Given the description of an element on the screen output the (x, y) to click on. 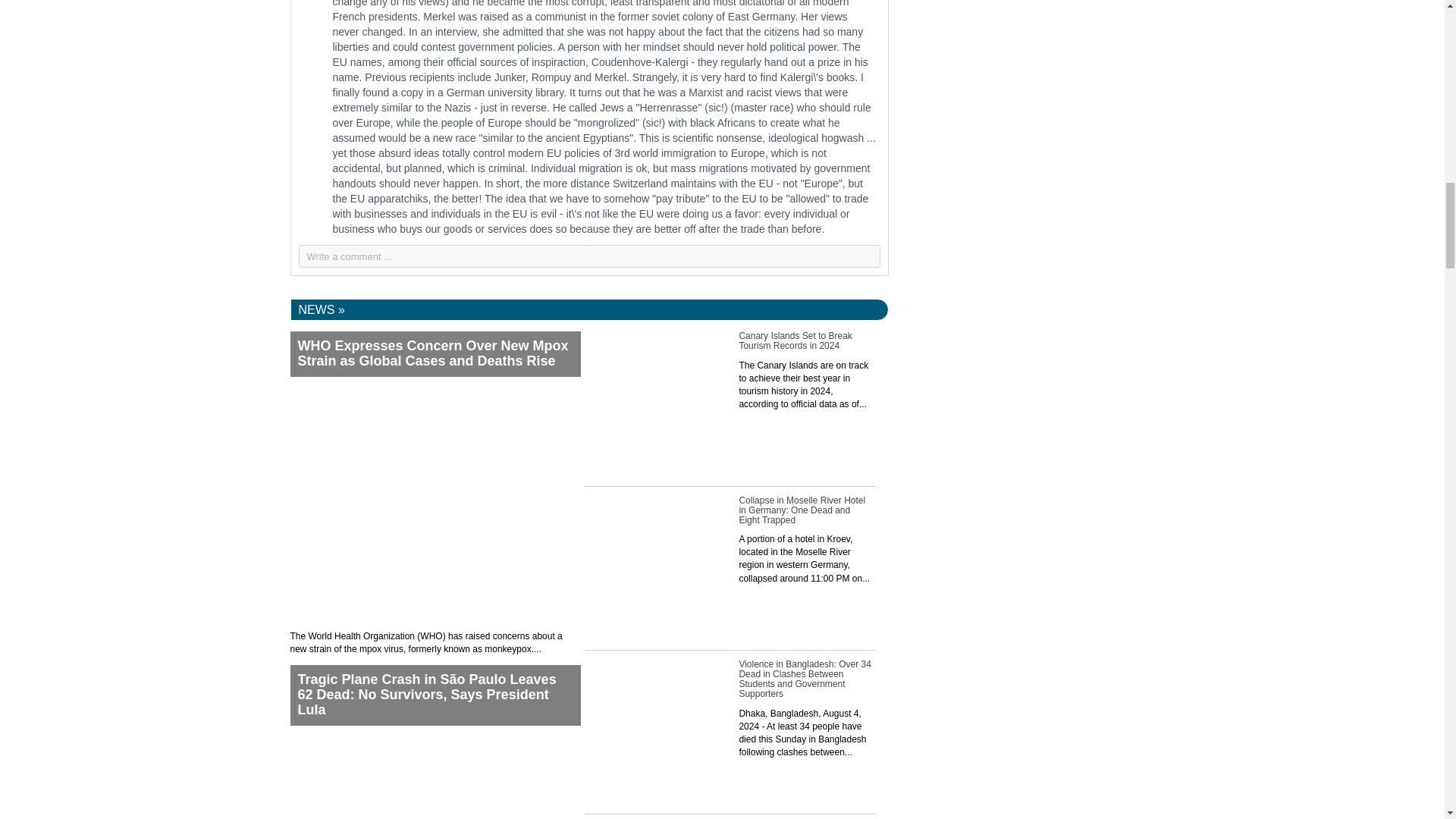
News (321, 309)
Canary Islands Set to Break Tourism Records in 2024 (730, 403)
